Given the description of an element on the screen output the (x, y) to click on. 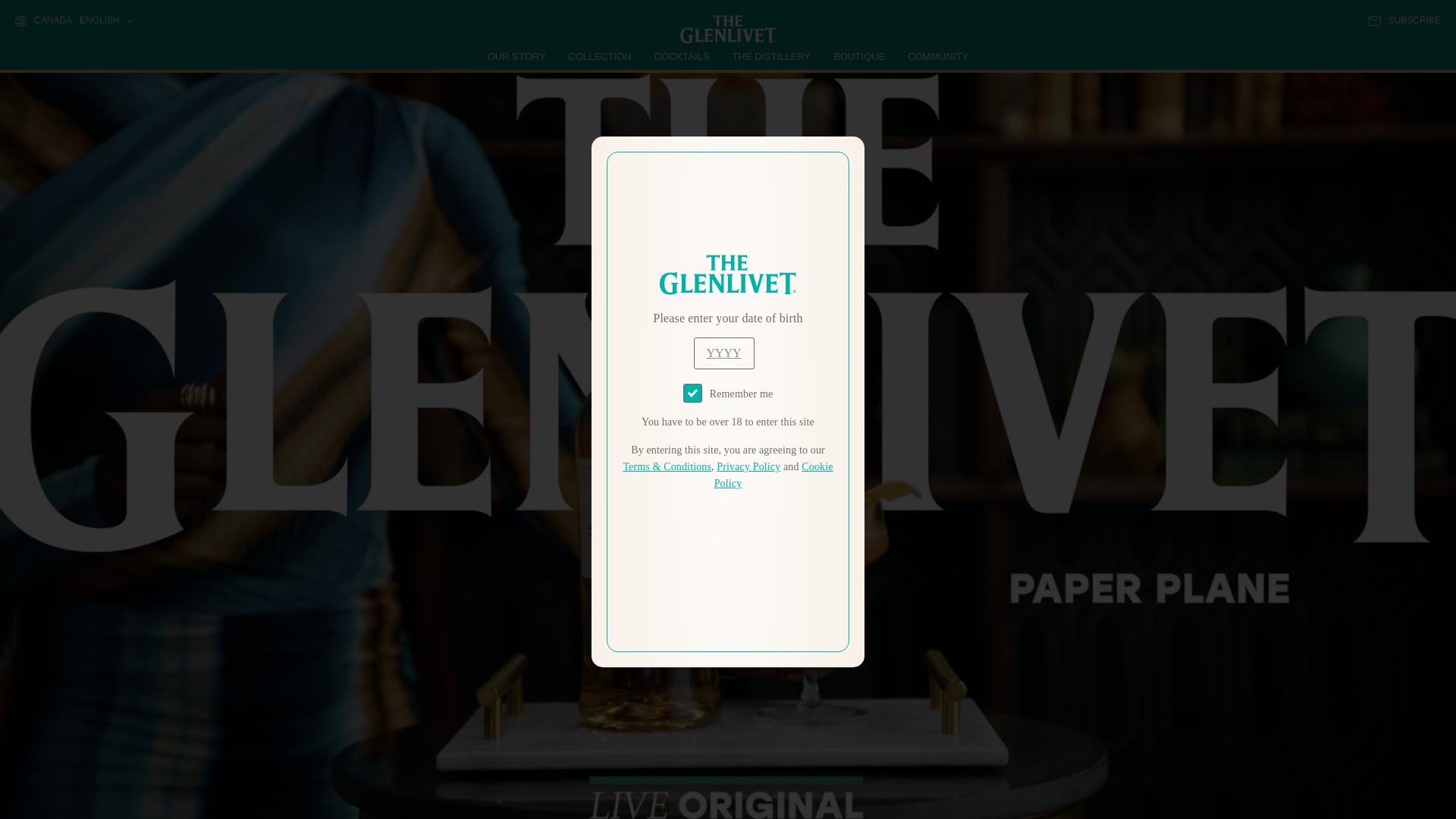
COLLECTION (600, 56)
BOUTIQUE (858, 56)
CANADA - ENGLISH (73, 21)
COCKTAILS (681, 56)
SUBSCRIBE (1404, 20)
COMMUNITY (937, 56)
THE DISTILLERY (771, 56)
OUR STORY (516, 56)
year (723, 353)
Cookie Policy (773, 474)
Privacy Policy (748, 466)
